Given the description of an element on the screen output the (x, y) to click on. 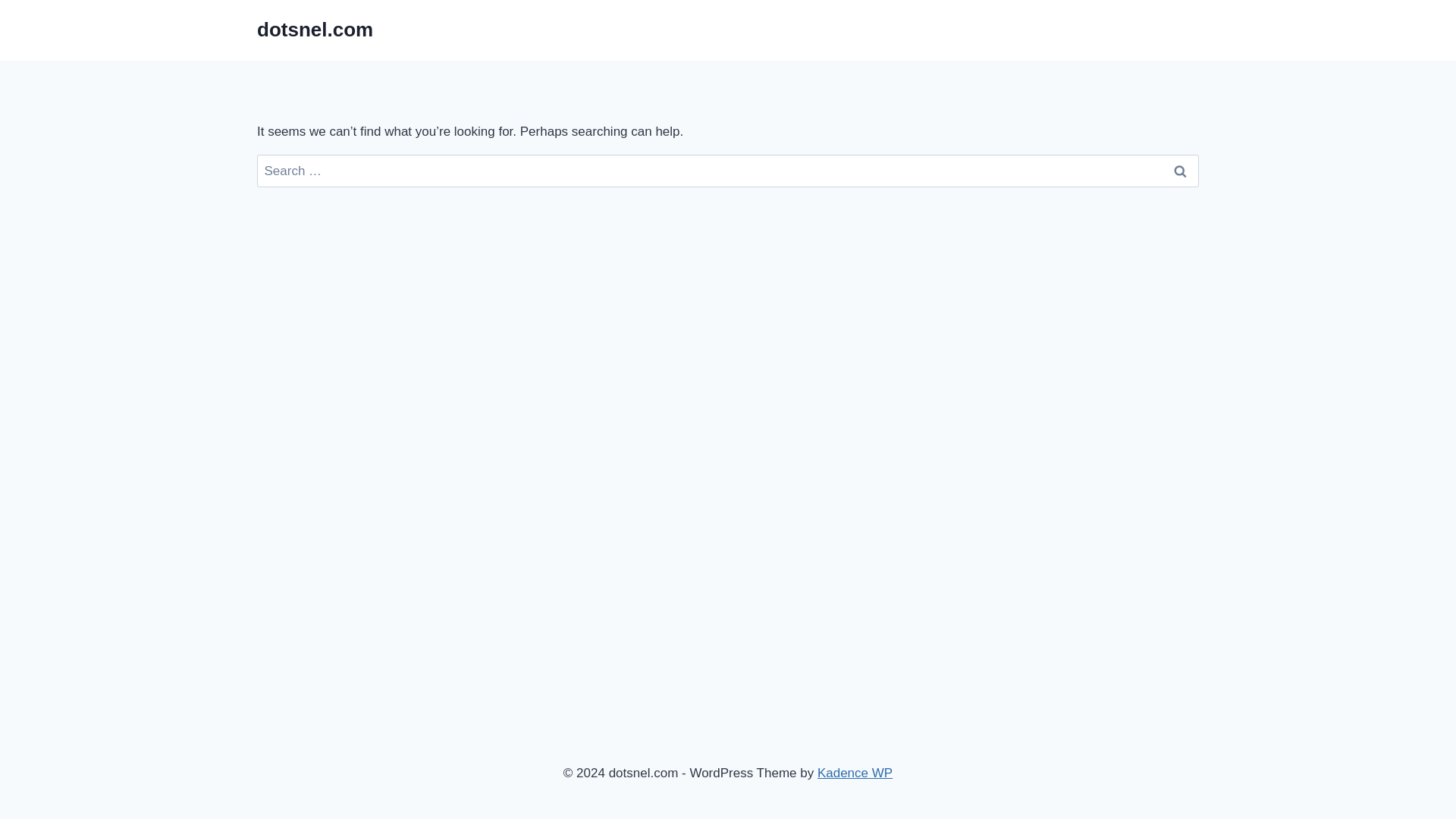
Search (1179, 170)
Search (1179, 170)
Kadence WP (854, 772)
dotsnel.com (314, 29)
Search (1179, 170)
